Given the description of an element on the screen output the (x, y) to click on. 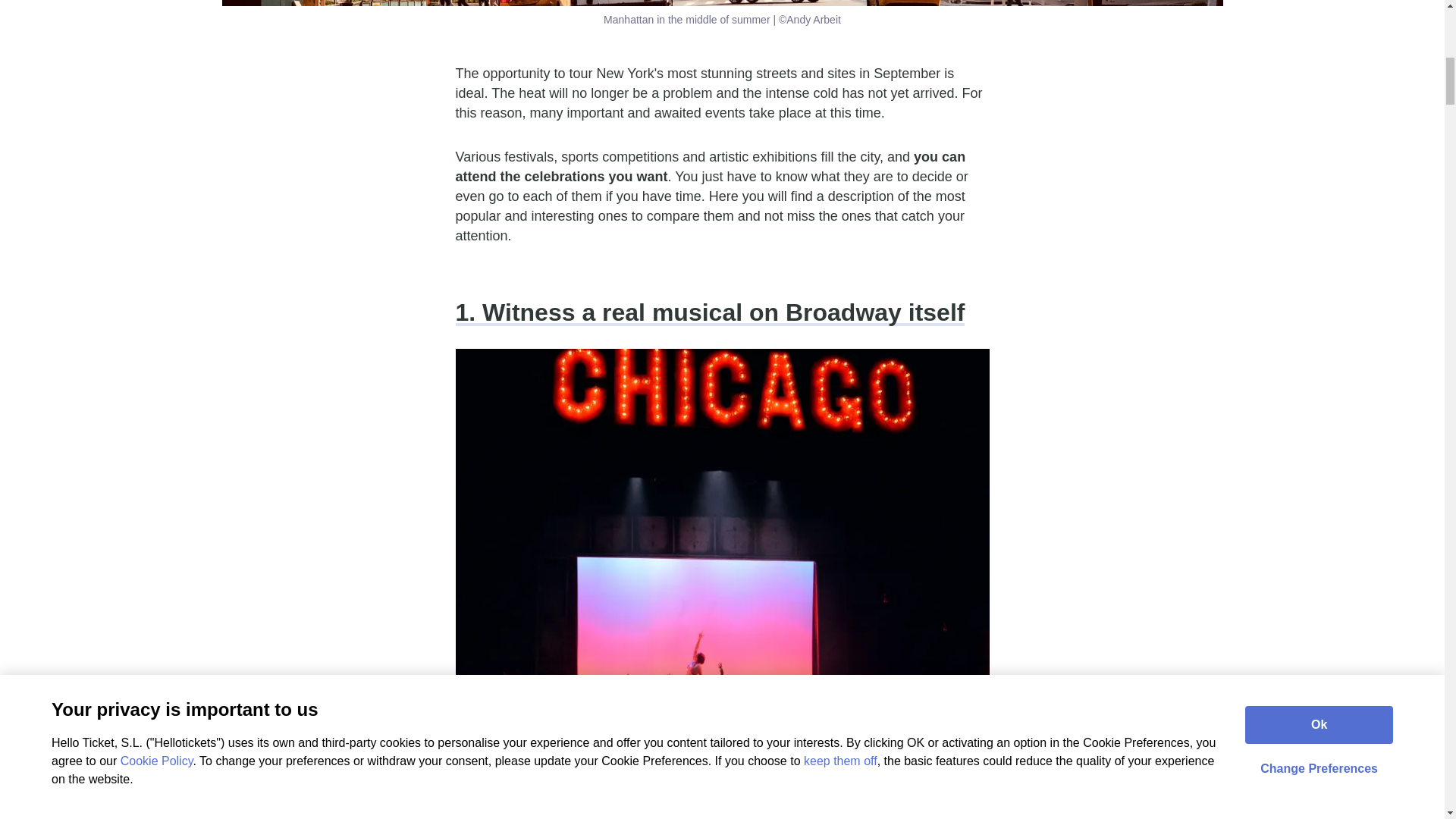
musicals (669, 798)
Tickets for (489, 798)
